Given the description of an element on the screen output the (x, y) to click on. 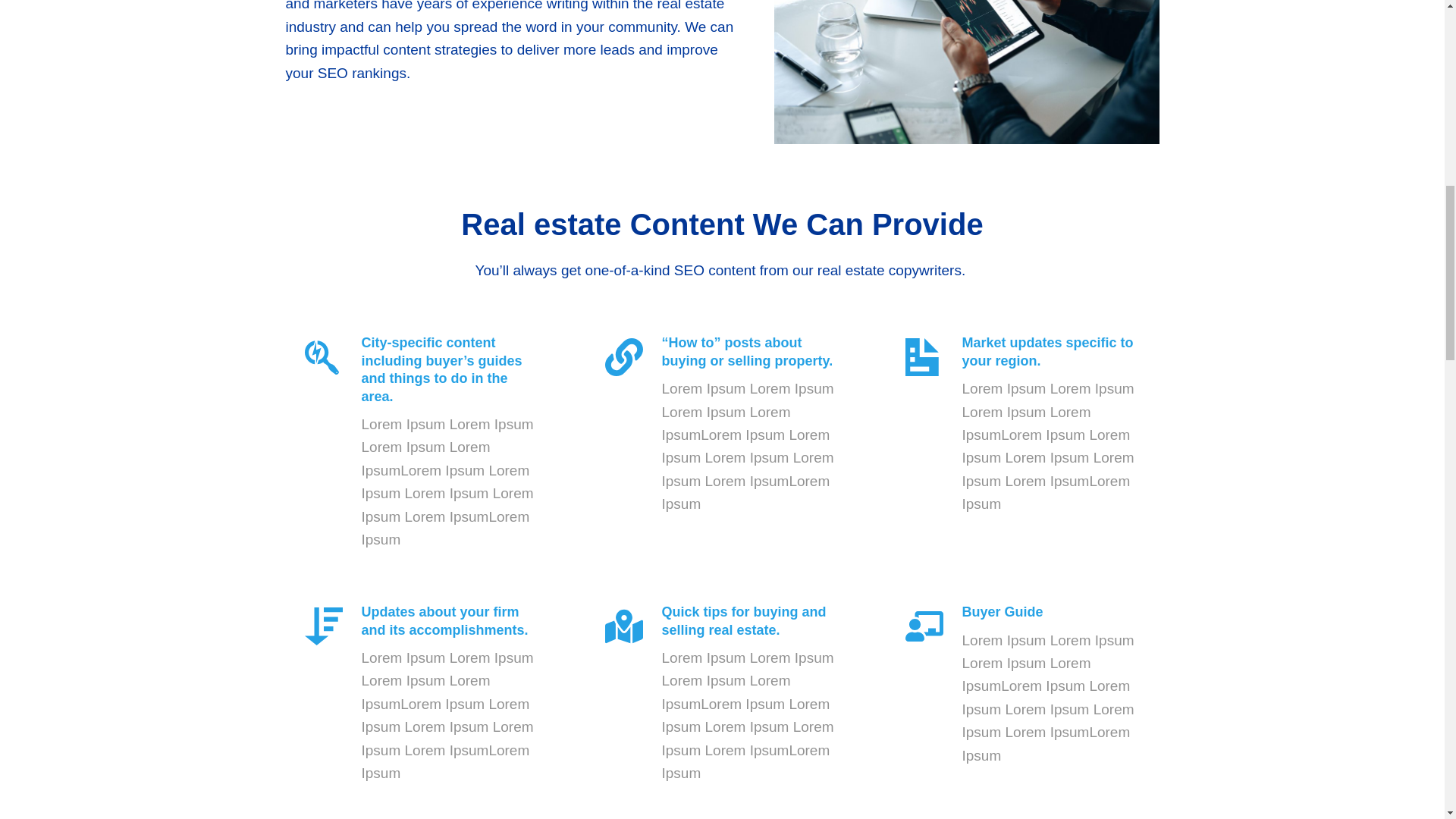
Real estate 2 (966, 72)
